Given the description of an element on the screen output the (x, y) to click on. 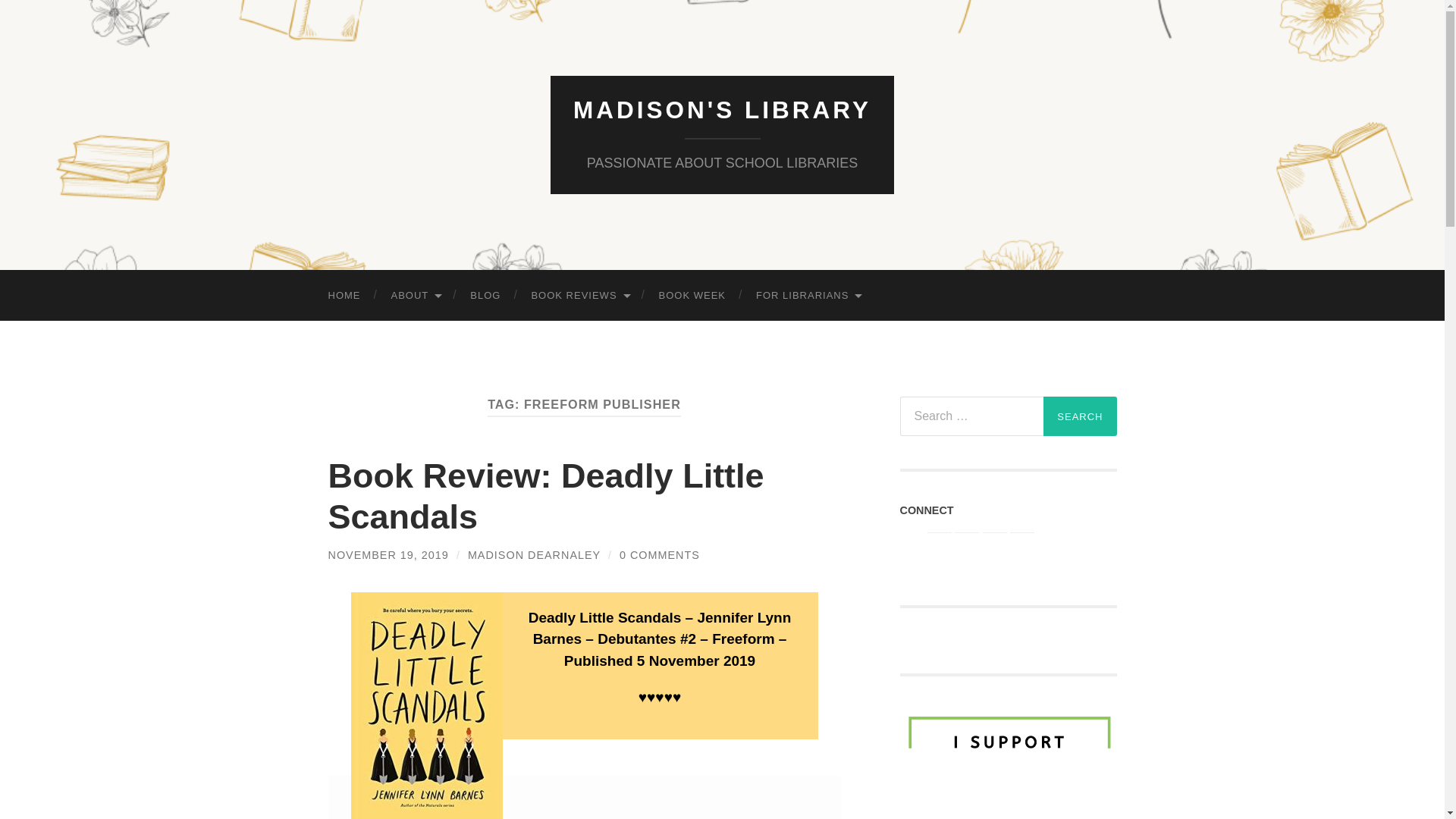
Posts by Madison Dearnaley (533, 554)
Search (1079, 415)
ABOUT (415, 295)
HOME (344, 295)
Search (1079, 415)
BOOK WEEK (692, 295)
FOR LIBRARIANS (808, 295)
MADISON'S LIBRARY (721, 109)
BLOG (484, 295)
BOOK REVIEWS (579, 295)
